Given the description of an element on the screen output the (x, y) to click on. 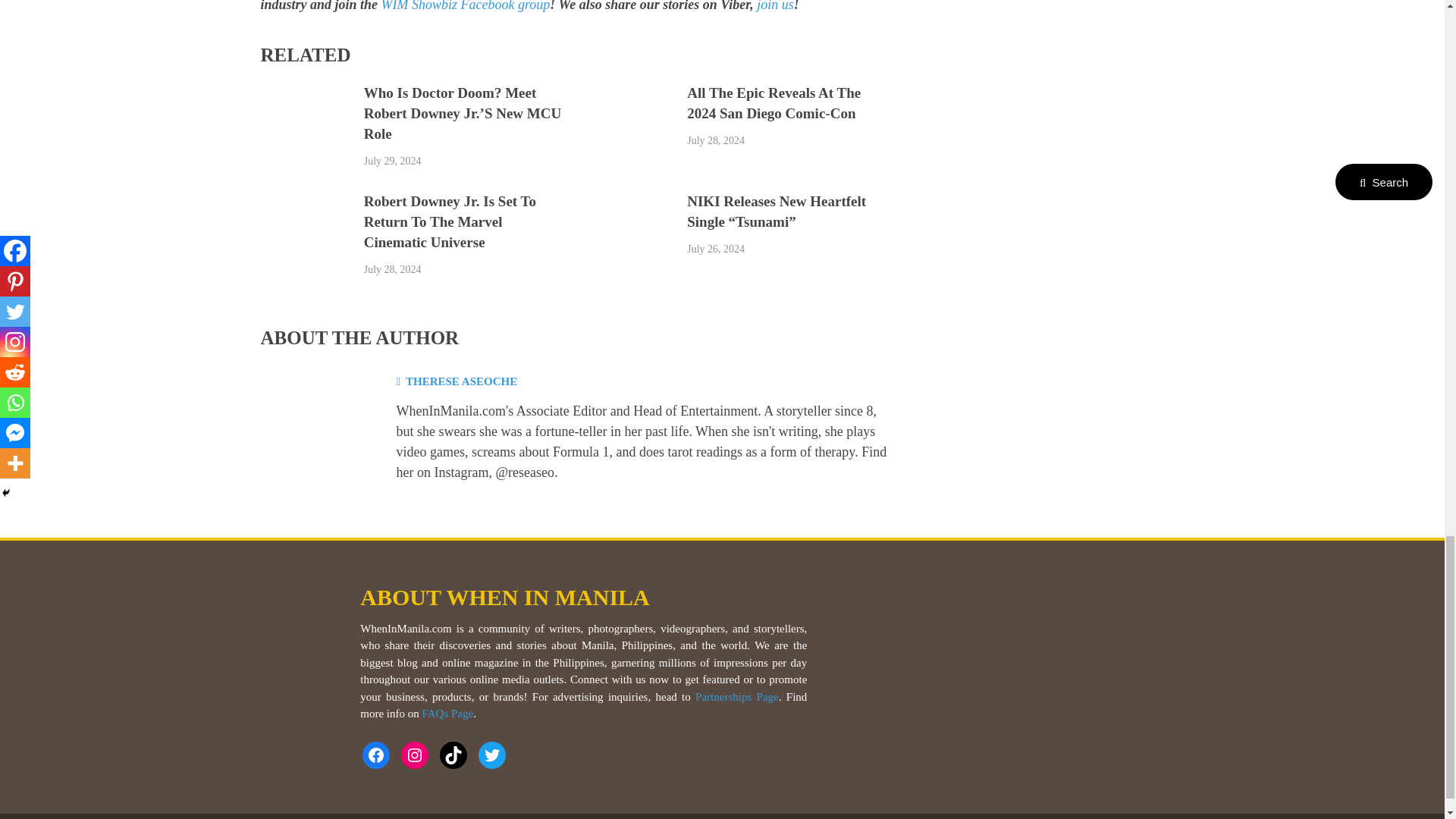
All the Epic Reveals at the 2024 San Diego Comic-Con 3 (627, 131)
All the Epic Reveals at the 2024 San Diego Comic-Con (773, 103)
